Given the description of an element on the screen output the (x, y) to click on. 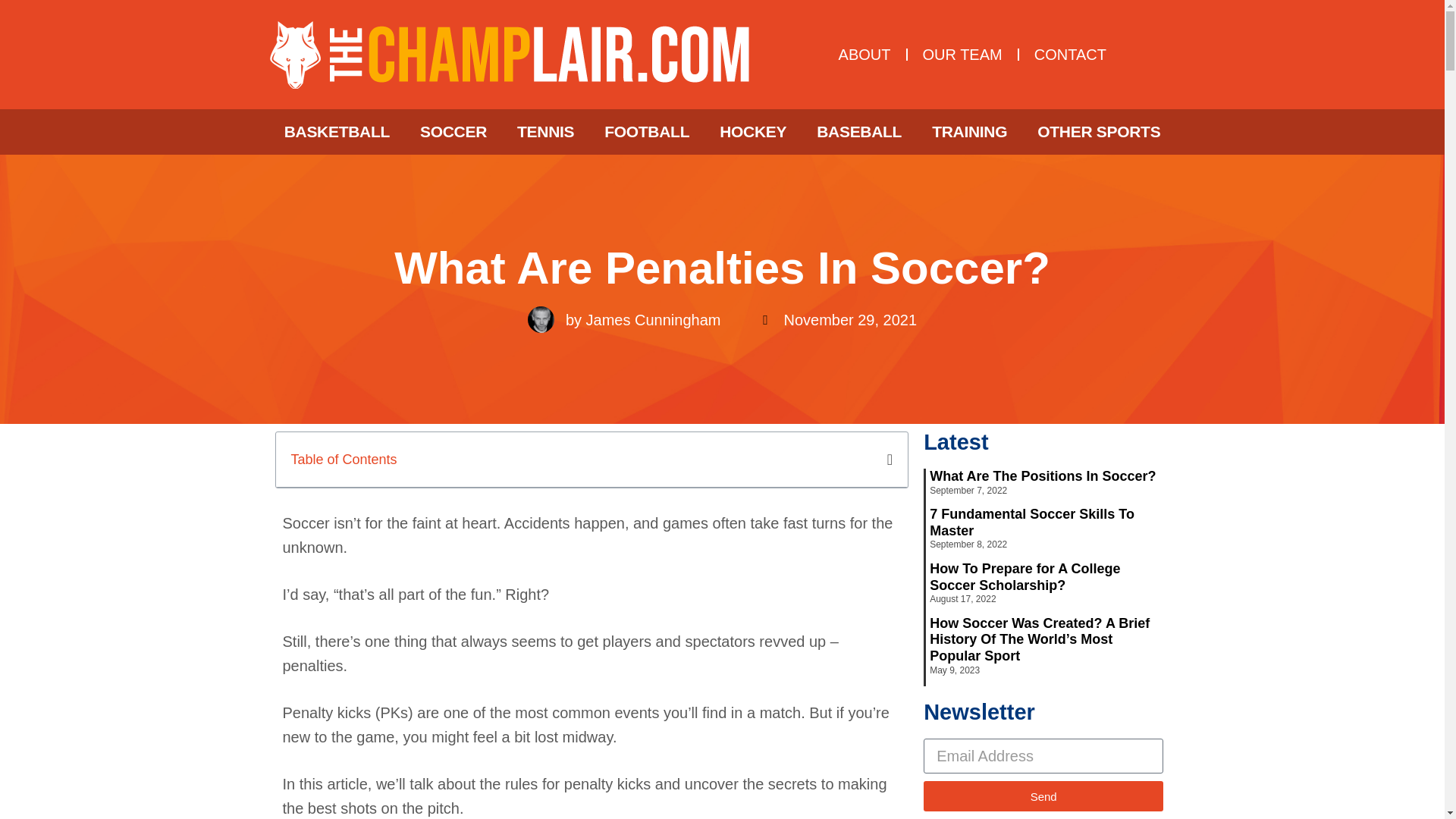
OUR TEAM (962, 54)
HOCKEY (753, 131)
BASEBALL (859, 131)
CONTACT (1070, 54)
by James Cunningham (623, 319)
TRAINING (969, 131)
SOCCER (453, 131)
BASKETBALL (336, 131)
OTHER SPORTS (1098, 131)
TENNIS (545, 131)
